Given the description of an element on the screen output the (x, y) to click on. 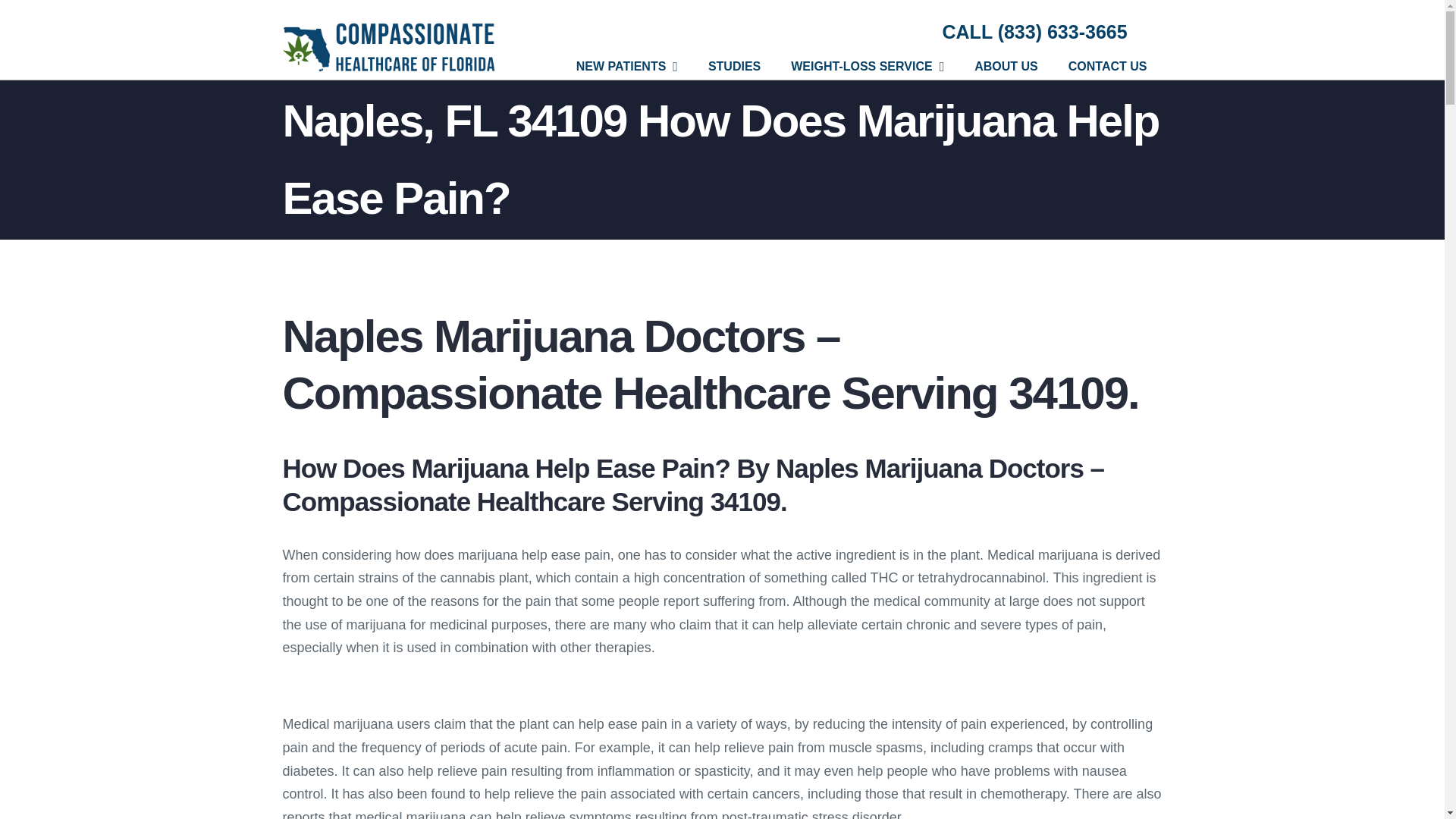
NEW PATIENTS (626, 66)
STUDIES (734, 66)
WEIGHT-LOSS SERVICE (867, 66)
CONTACT US (1106, 66)
ABOUT US (1005, 66)
